Given the description of an element on the screen output the (x, y) to click on. 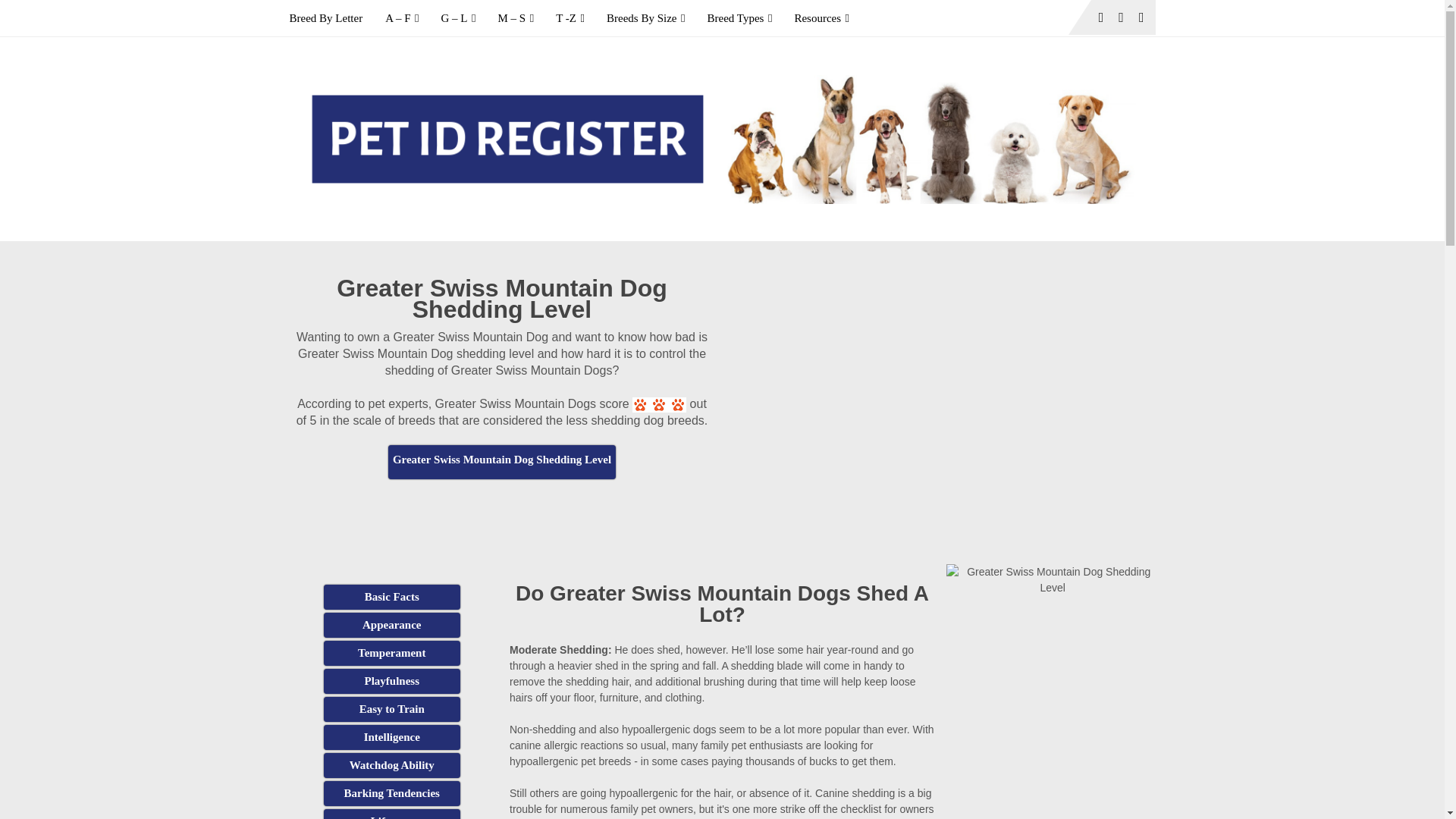
Breed By Letter (331, 18)
What is the lifespan of Greater Swiss Mountain Dogs? (391, 814)
Will Greater Swiss Mountain Dogs make good guard dogs? (391, 765)
Resources (821, 18)
Breed Types (739, 18)
Do Greater Swiss Mountain Dogs bark a lot? (391, 793)
Are Greater Swiss Mountain Dogs intelligent? (391, 737)
Are Greater Swiss Mountain Dogs Easy to Train? (391, 708)
Greater Swiss Mountain Dog Facts? (391, 596)
tooltip (501, 462)
T -Z (569, 18)
Are Greater Swiss Mountain Dogs playful? (391, 681)
Breeds By Size (645, 18)
What are the temperaments of Greater Swiss Mountain Dogs? (391, 652)
How does a Greater Swiss Mountain Dog look like? (391, 625)
